Given the description of an element on the screen output the (x, y) to click on. 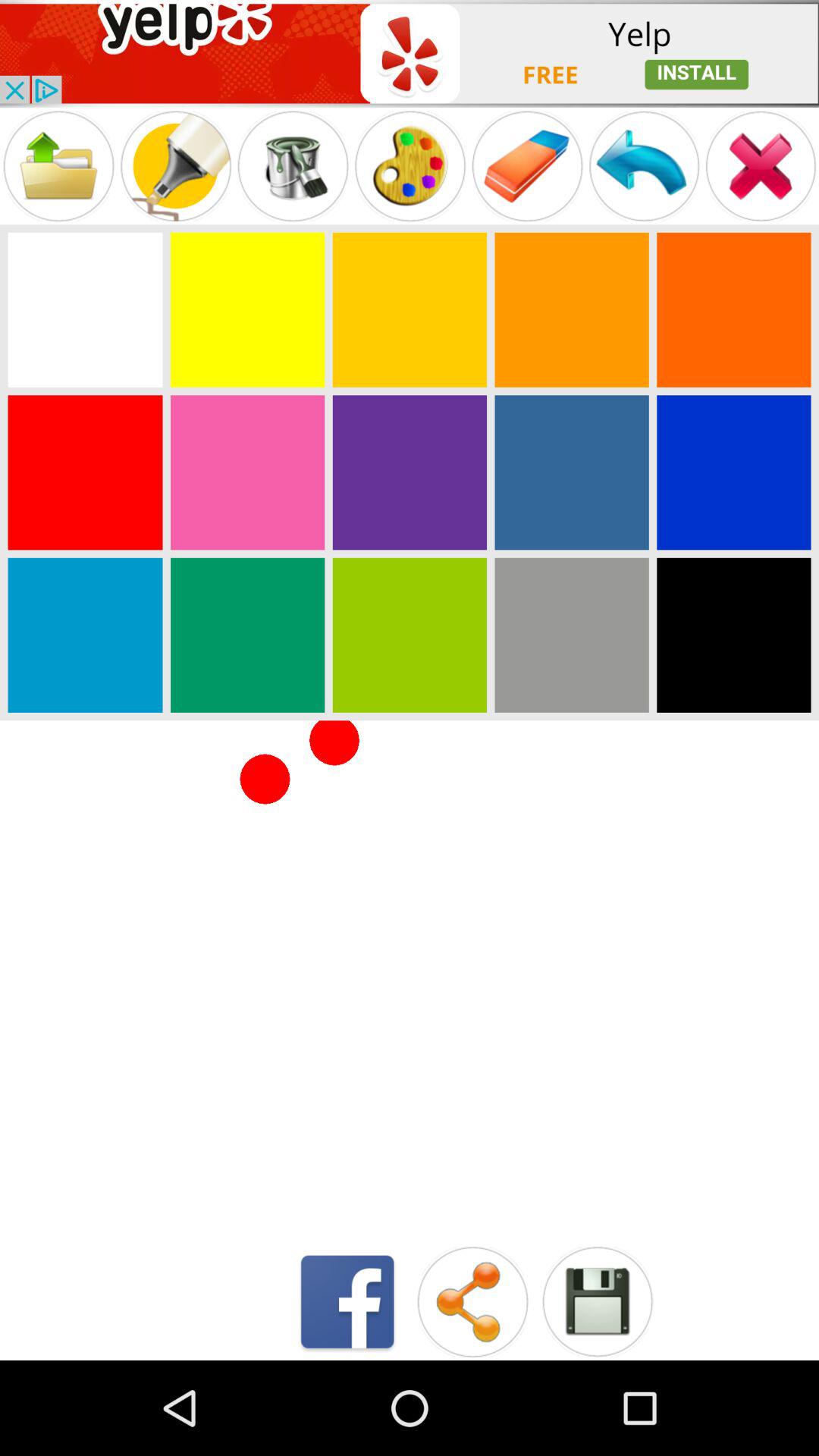
save changes (597, 1301)
